Given the description of an element on the screen output the (x, y) to click on. 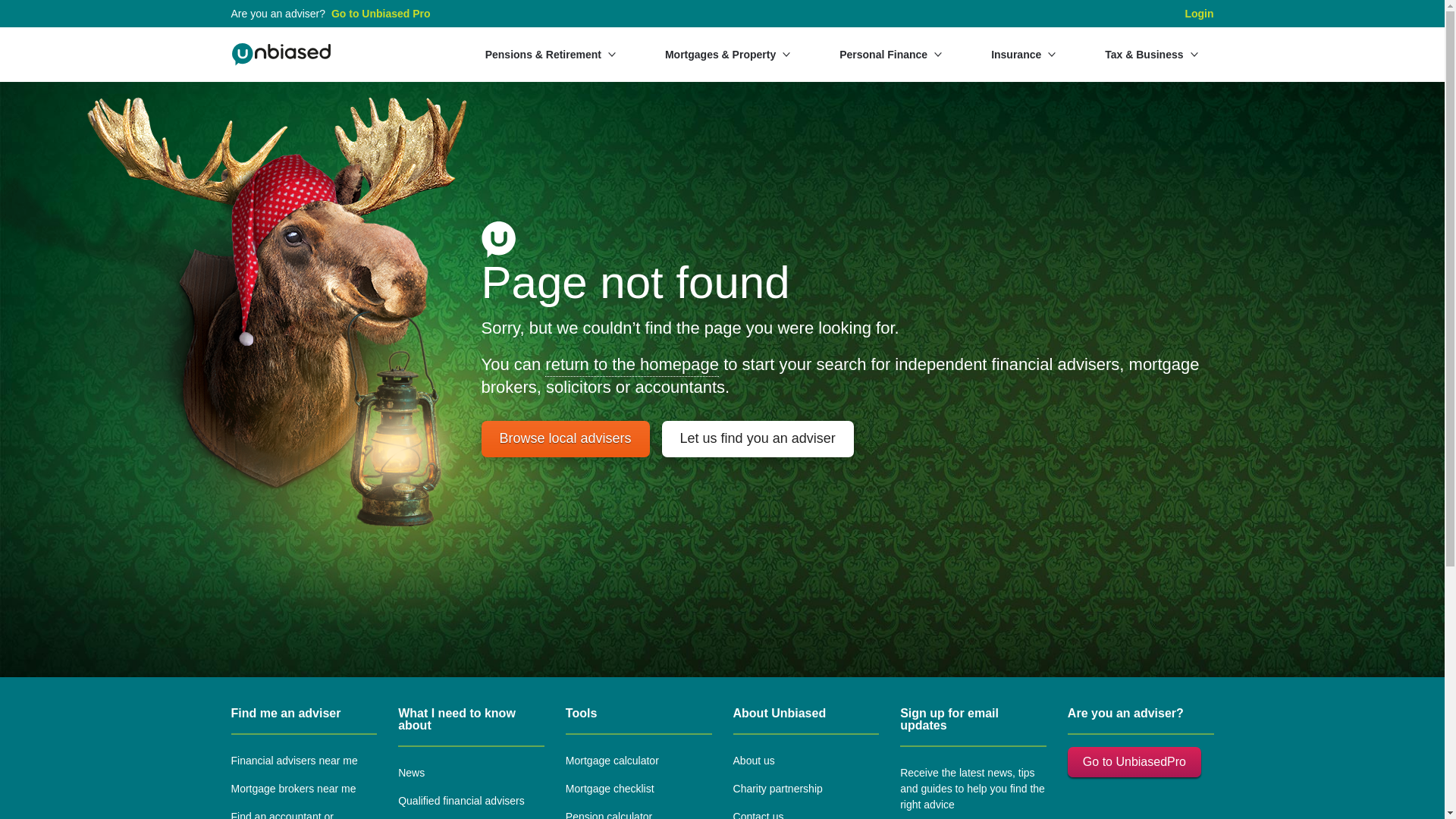
Go to Unbiased Pro (380, 13)
Insurance (1023, 54)
Unbiased (280, 54)
Login (1198, 13)
Personal Finance (891, 54)
